Given the description of an element on the screen output the (x, y) to click on. 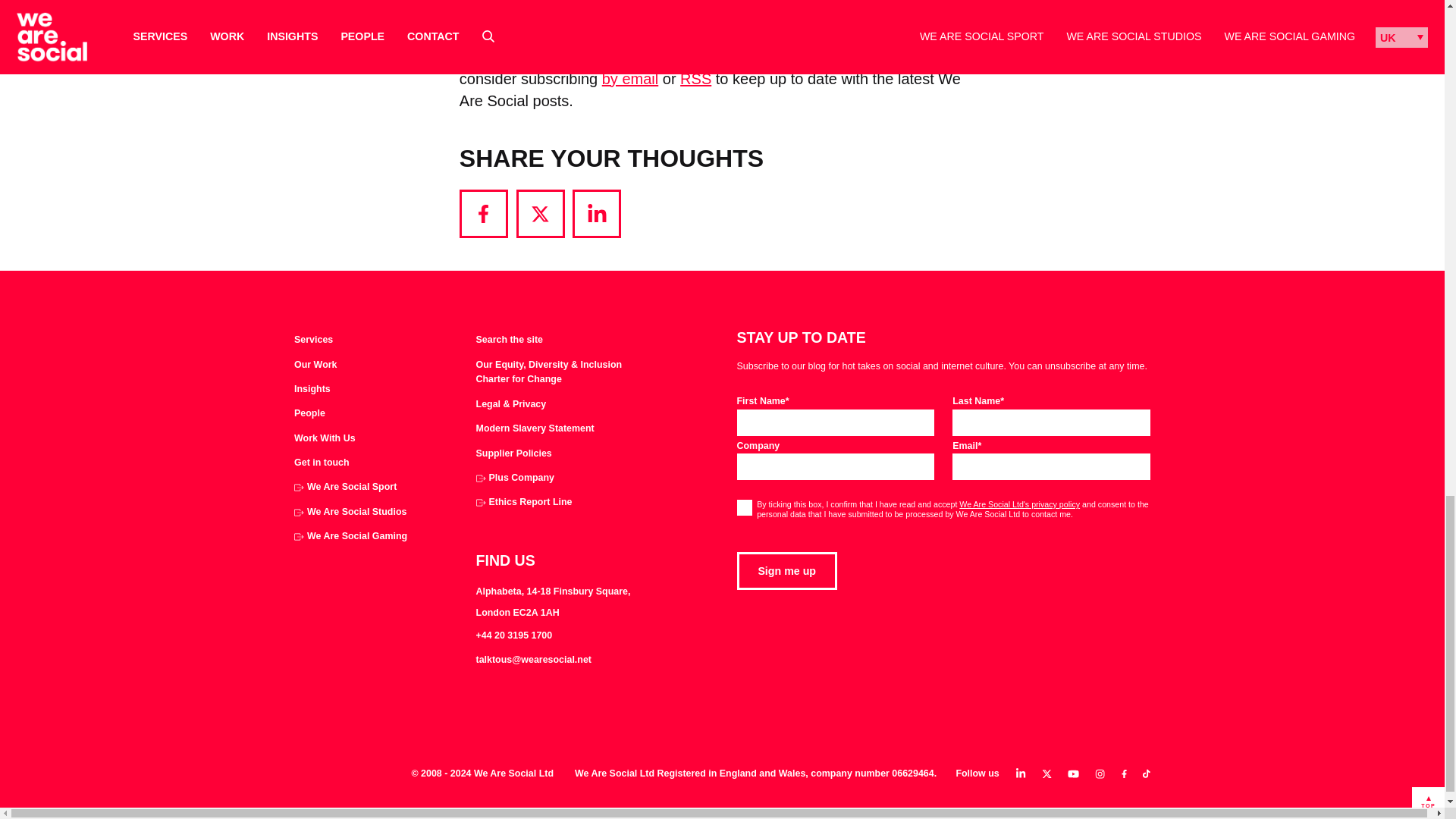
About (309, 413)
We Are Social Sport (345, 487)
Work With Us (324, 438)
RSS (695, 78)
We Are Social Studios (350, 512)
Plus Company (515, 478)
Share via Twitter (540, 213)
Modern Slavery Statement (535, 428)
We Are Social Gaming (350, 536)
People (309, 413)
Ethics Report Line (524, 502)
Get in Touch (321, 462)
Share via LinkedIn (596, 213)
Work (315, 365)
